Given the description of an element on the screen output the (x, y) to click on. 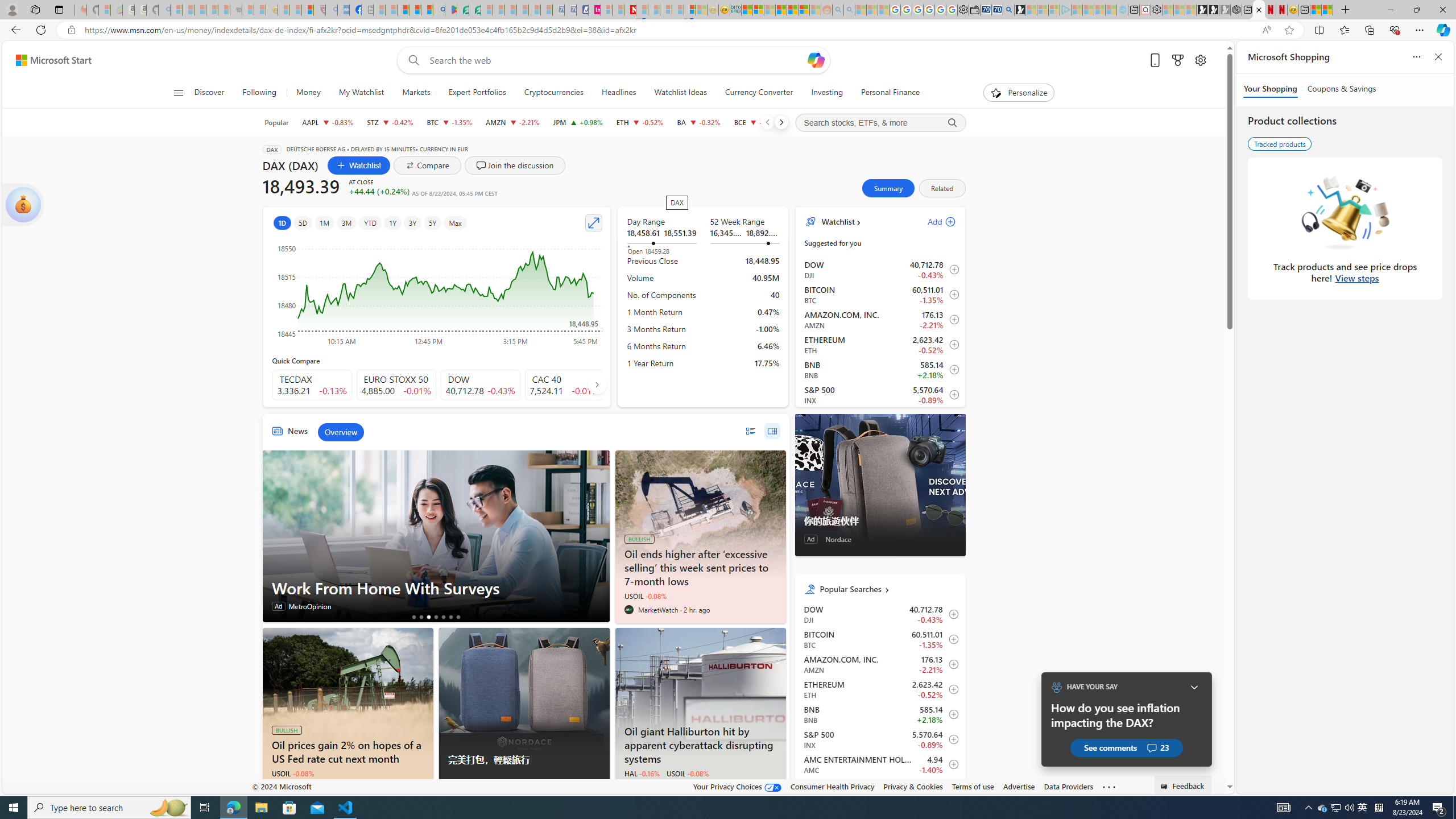
ETH Ethereum decrease 2,623.42 -13.69 -0.52% (639, 122)
Expert Portfolios (477, 92)
1M (324, 223)
